Given the description of an element on the screen output the (x, y) to click on. 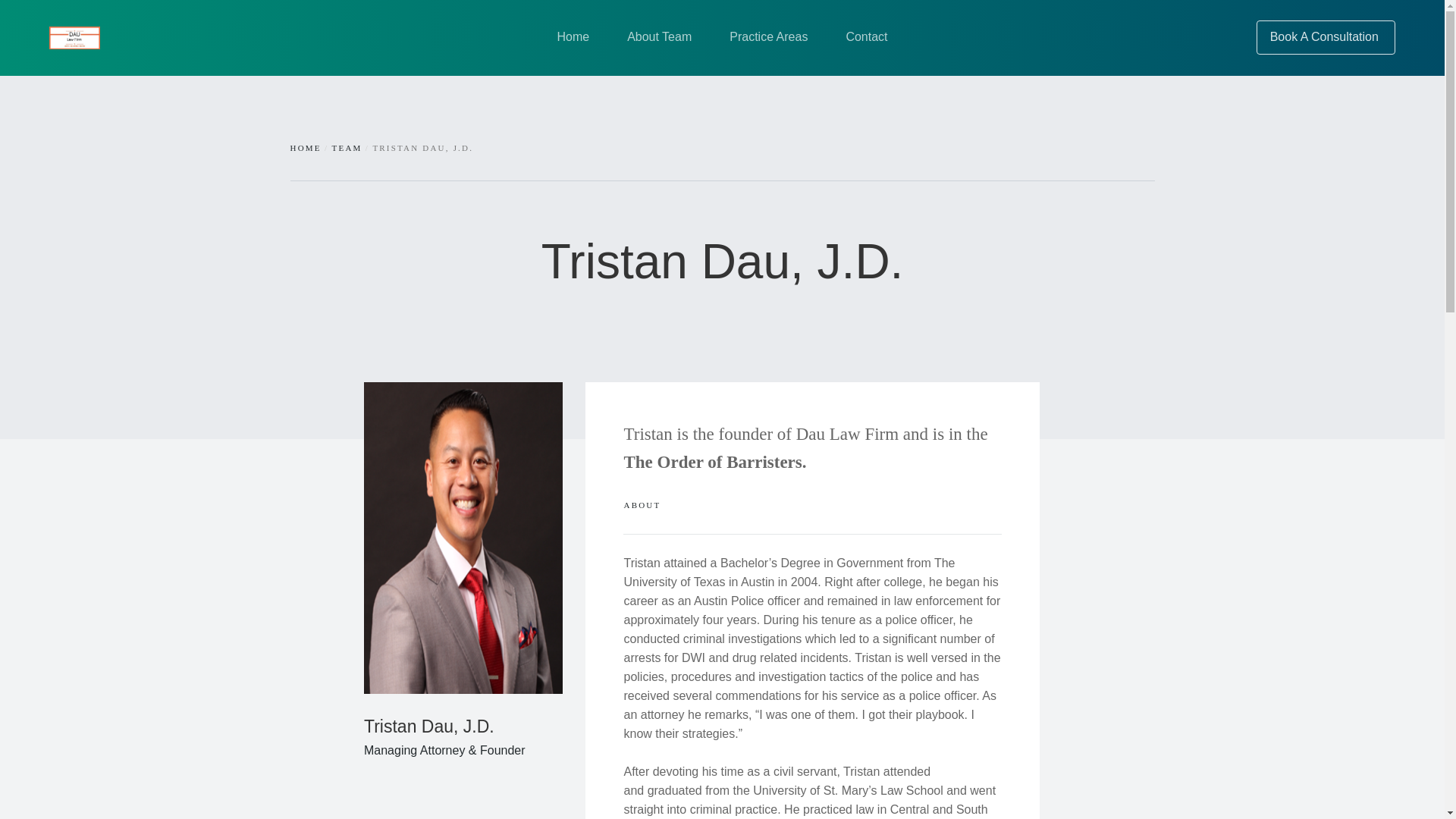
Book A Consultation (1325, 37)
About Team (659, 36)
The Order of Barristers. (714, 461)
HOME (304, 147)
Practice Areas (768, 36)
TEAM (346, 147)
